Given the description of an element on the screen output the (x, y) to click on. 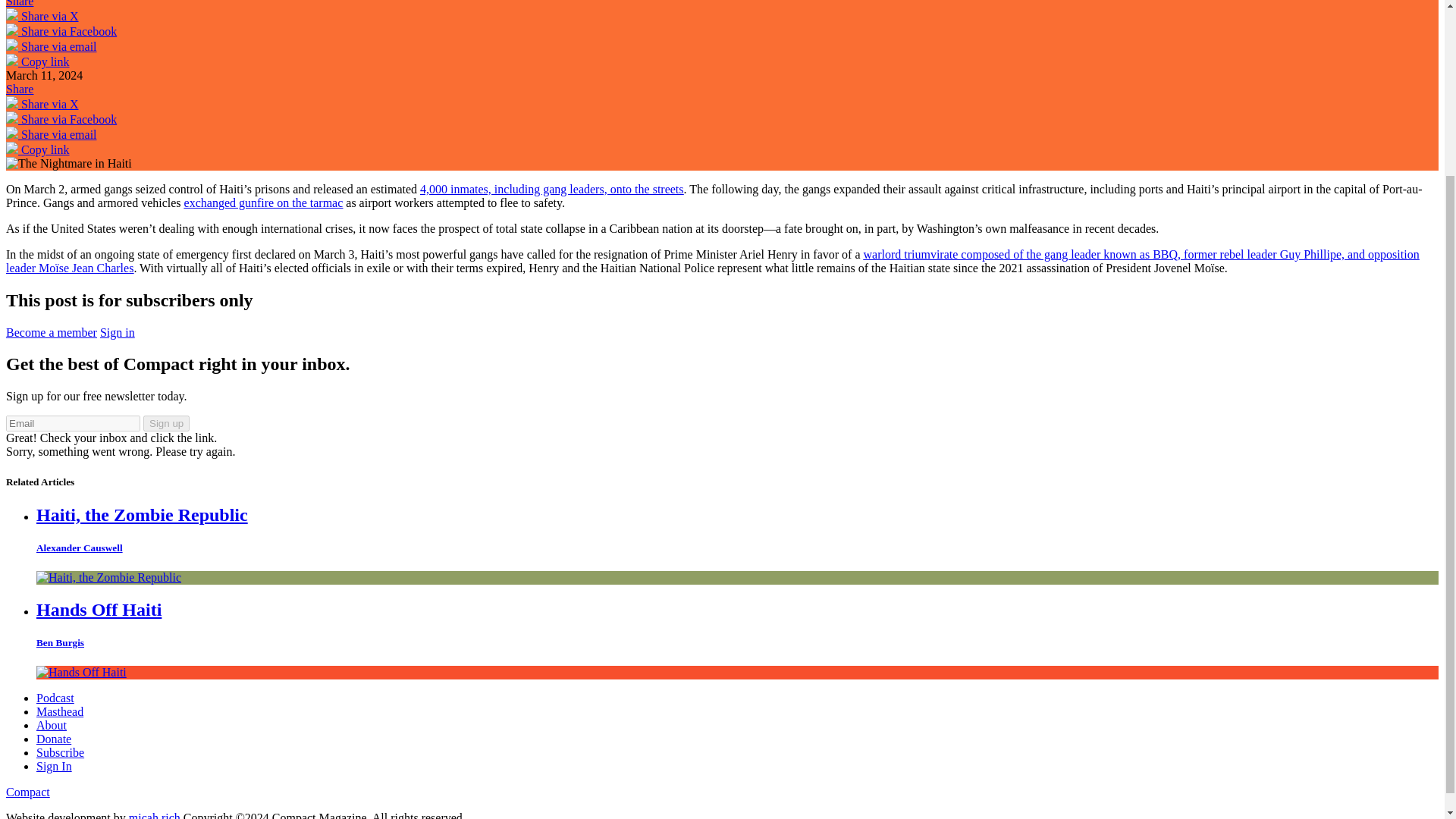
Alexander Causwell (79, 547)
Copy link (37, 149)
Sign up (165, 423)
Share via Facebook (60, 119)
Share via X (41, 15)
Compact (27, 791)
Share via X (41, 103)
Share (19, 88)
Share via Facebook (60, 31)
Share (19, 3)
About (51, 725)
Subscribe (60, 752)
Sign in (117, 332)
Share via email (51, 46)
Share via email (51, 133)
